Given the description of an element on the screen output the (x, y) to click on. 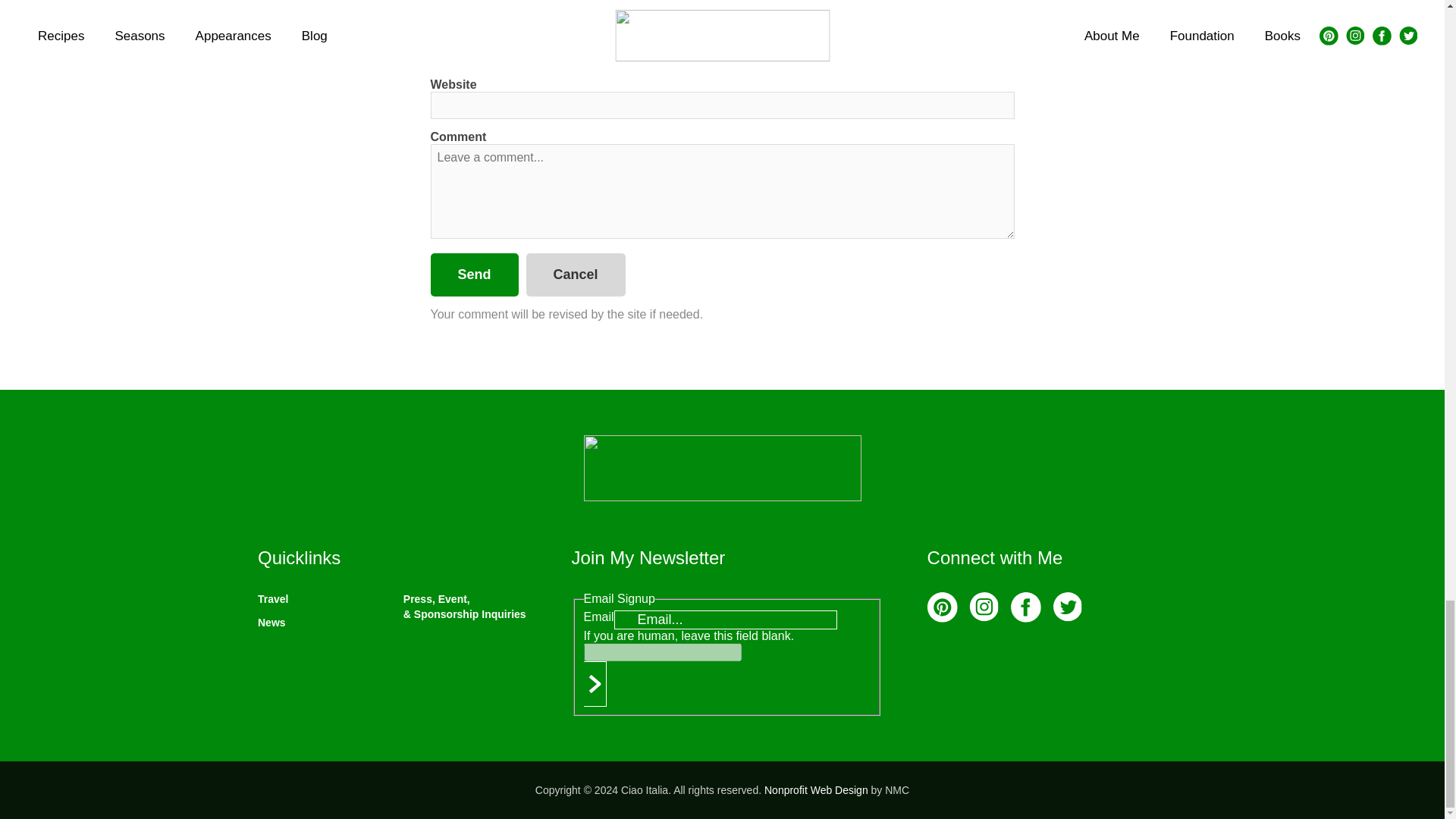
Send (474, 274)
Travel (272, 598)
News (271, 622)
Cancel (575, 274)
